Given the description of an element on the screen output the (x, y) to click on. 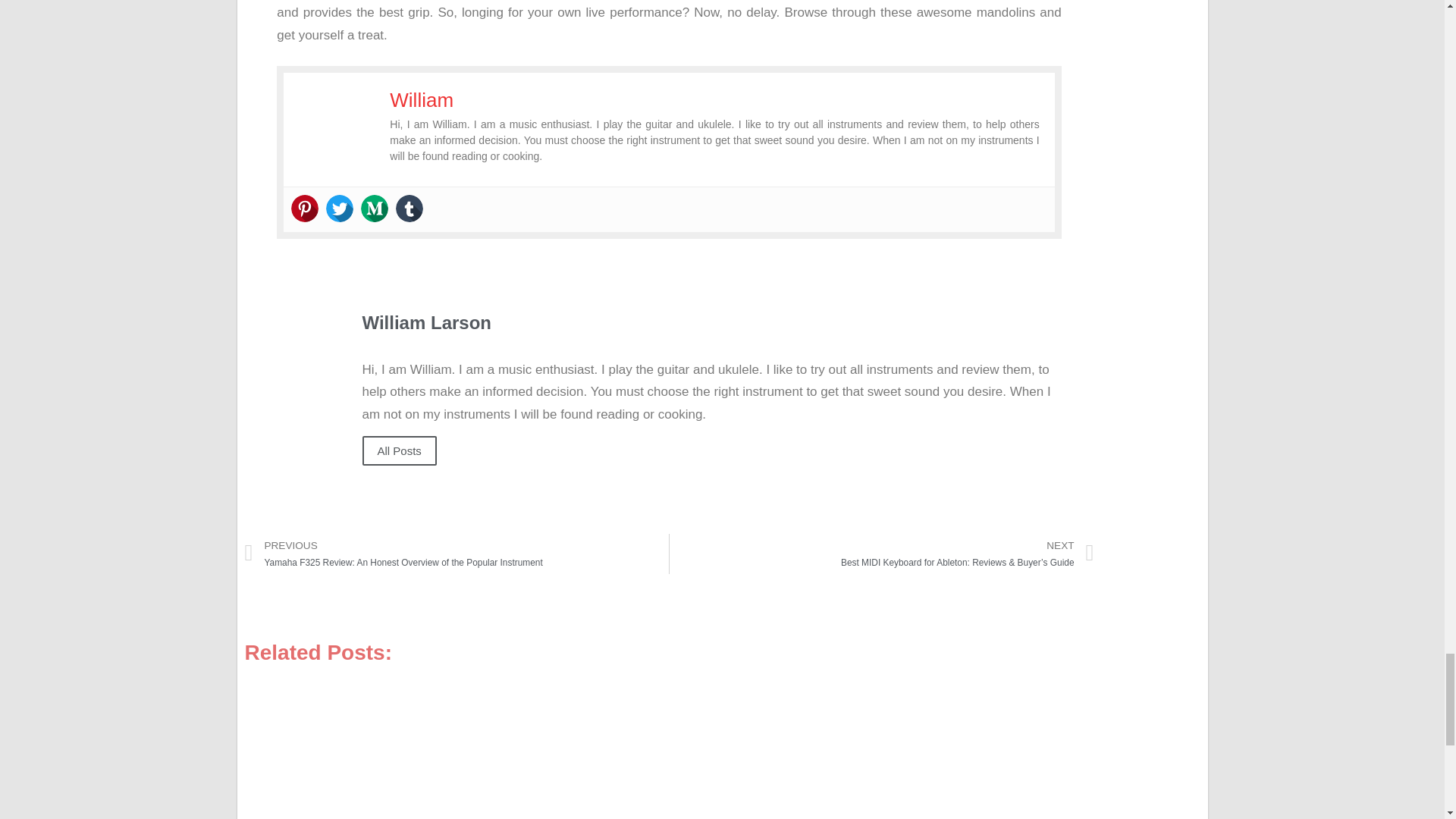
Pinterest (304, 207)
Tumblr (409, 207)
Twitter (339, 207)
Medium (374, 207)
